Given the description of an element on the screen output the (x, y) to click on. 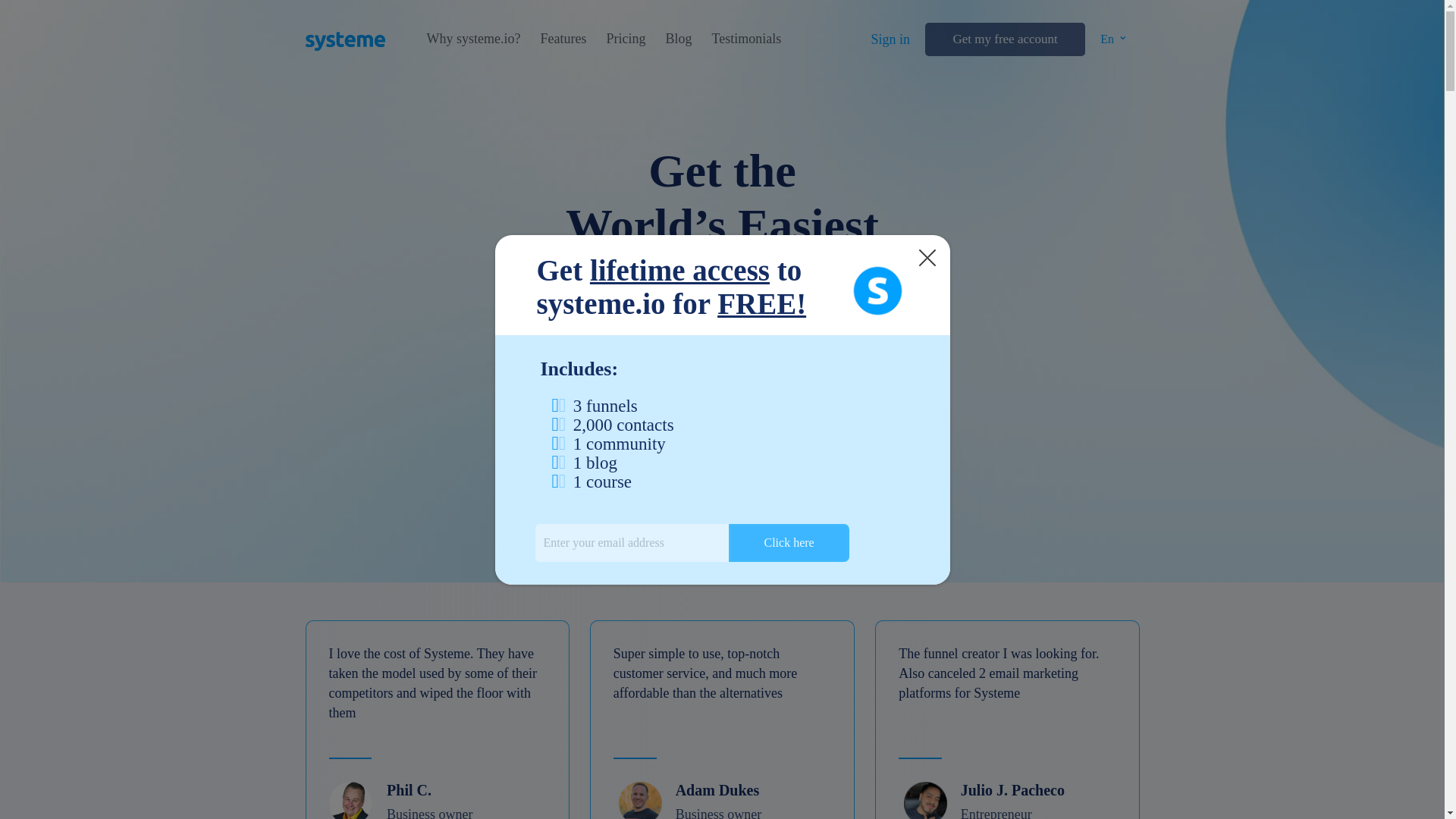
Features (563, 38)
Testimonials (745, 38)
Why systeme.io? (472, 38)
Get my free account (1004, 39)
Sign in (890, 39)
Blog (678, 38)
Pricing (625, 38)
